Given the description of an element on the screen output the (x, y) to click on. 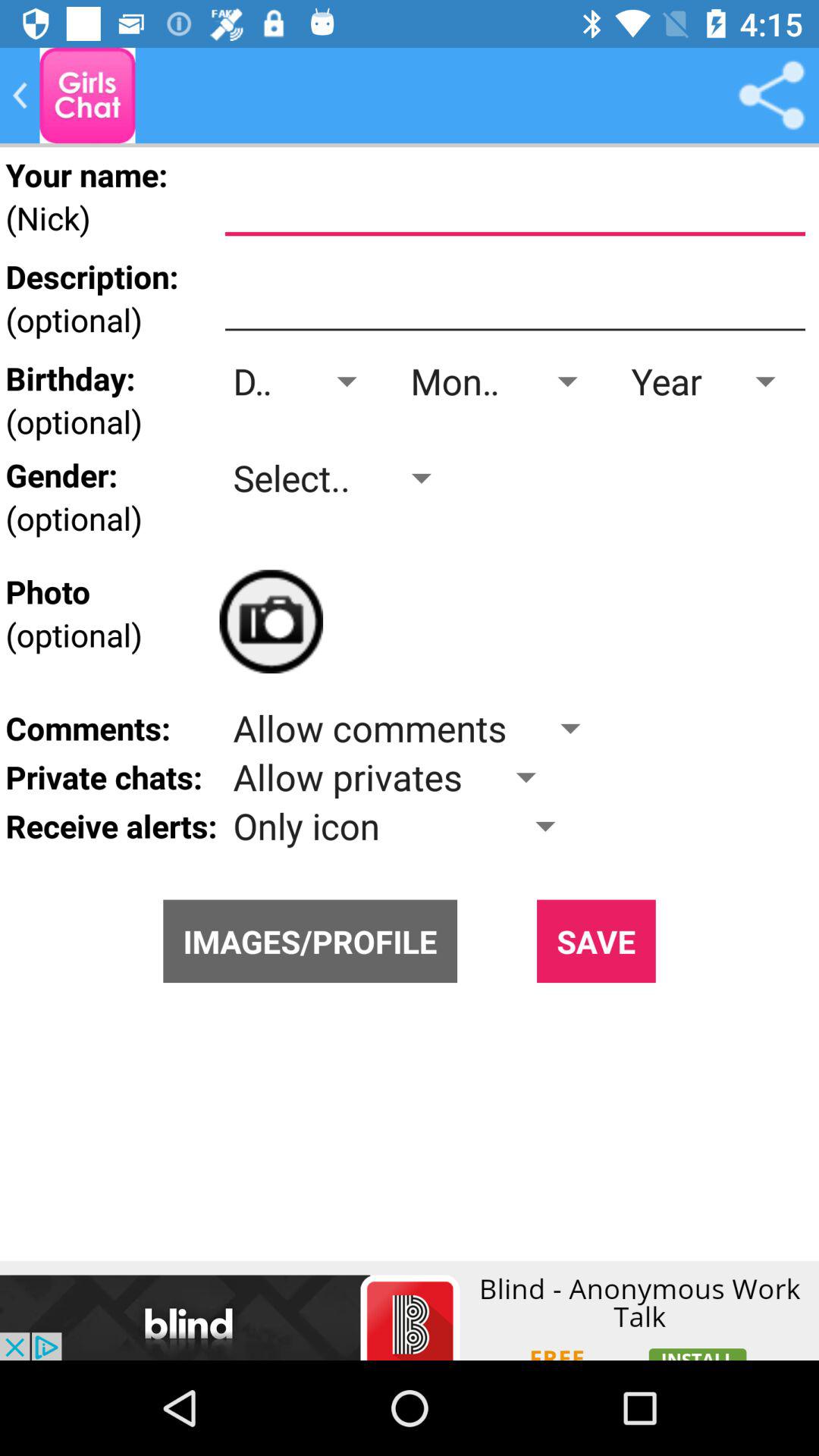
add description (515, 297)
